Given the description of an element on the screen output the (x, y) to click on. 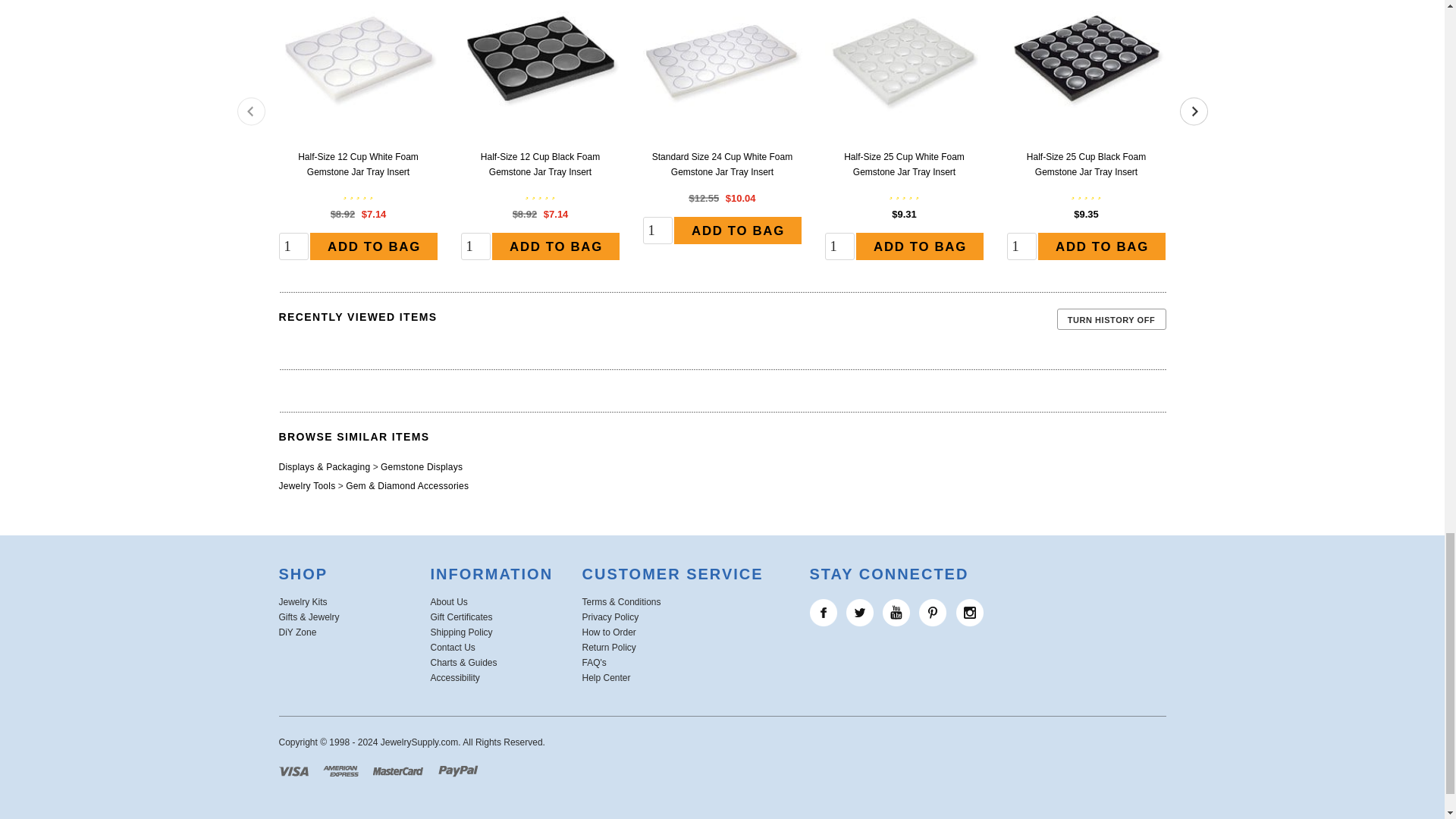
Subscribe to Our Channel (896, 612)
1 (840, 246)
1 (657, 230)
1 (293, 246)
Turn History Off (1111, 319)
1 (1021, 246)
Follow Us on Twitter (859, 612)
Like Us on Facebook (823, 612)
1 (476, 246)
